Given the description of an element on the screen output the (x, y) to click on. 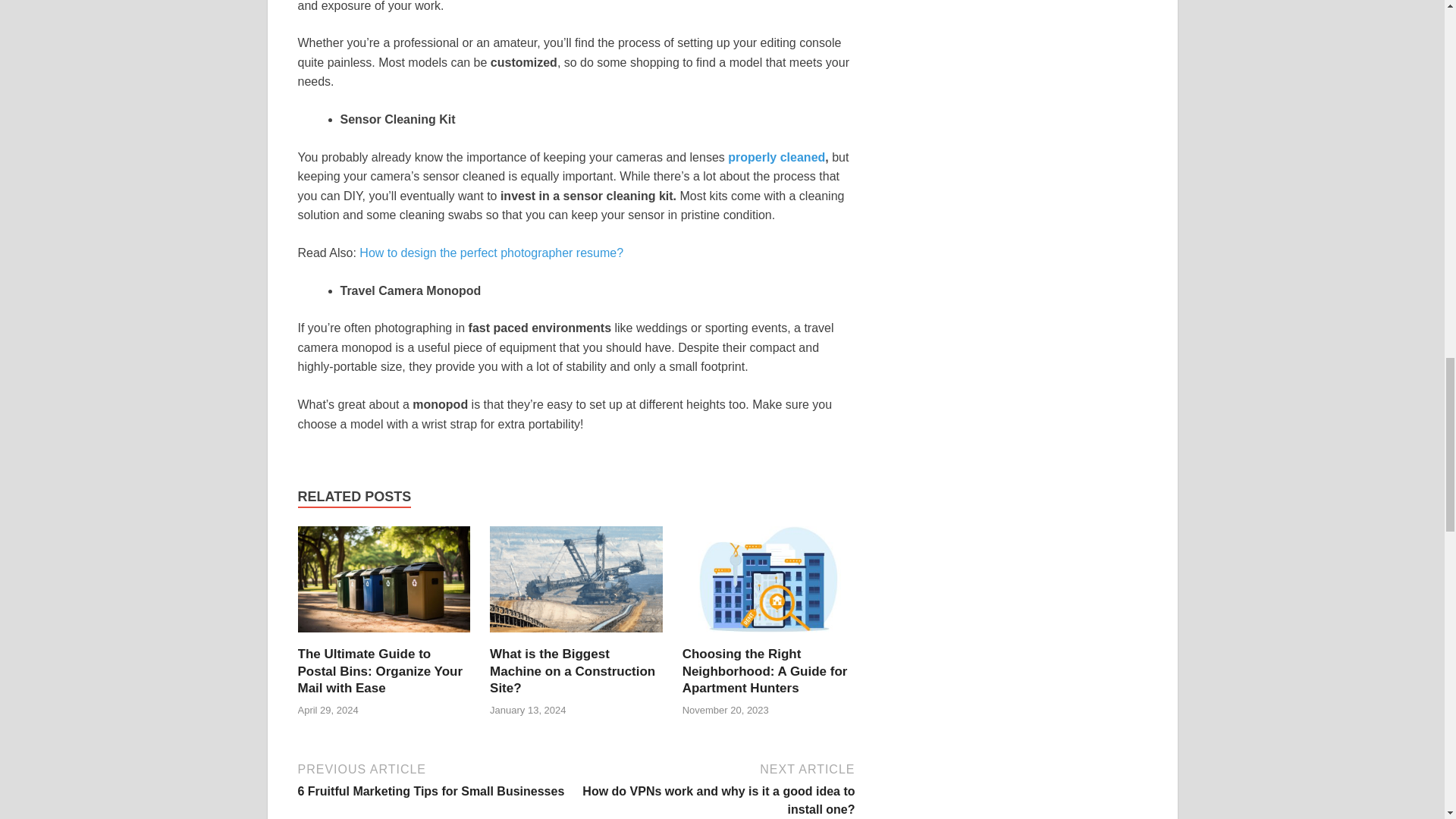
properly cleaned (776, 156)
What is the Biggest Machine on a Construction Site? (572, 670)
What is the Biggest Machine on a Construction Site? (572, 670)
How to design the perfect photographer resume? (491, 252)
What is the Biggest Machine on a Construction Site? (575, 635)
